Given the description of an element on the screen output the (x, y) to click on. 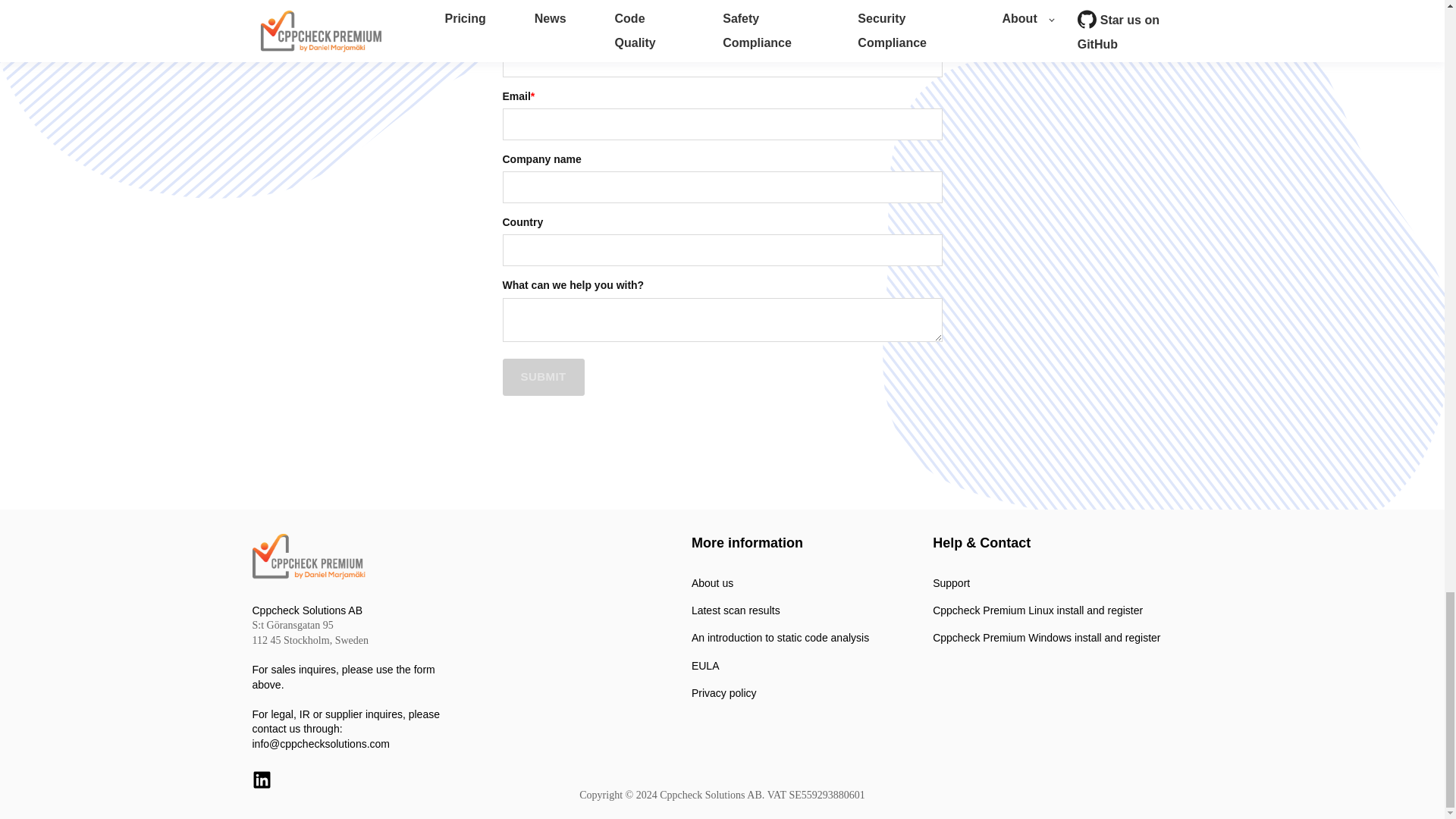
An introduction to static code analysis (780, 637)
Support (1046, 583)
EULA (780, 666)
SUBMIT (542, 376)
Cppcheck Premium Linux install and register (1046, 610)
Privacy policy (780, 693)
Latest scan results (780, 610)
About us (780, 583)
SUBMIT (542, 376)
Cppcheck Premium Windows install and register (1046, 637)
